Given the description of an element on the screen output the (x, y) to click on. 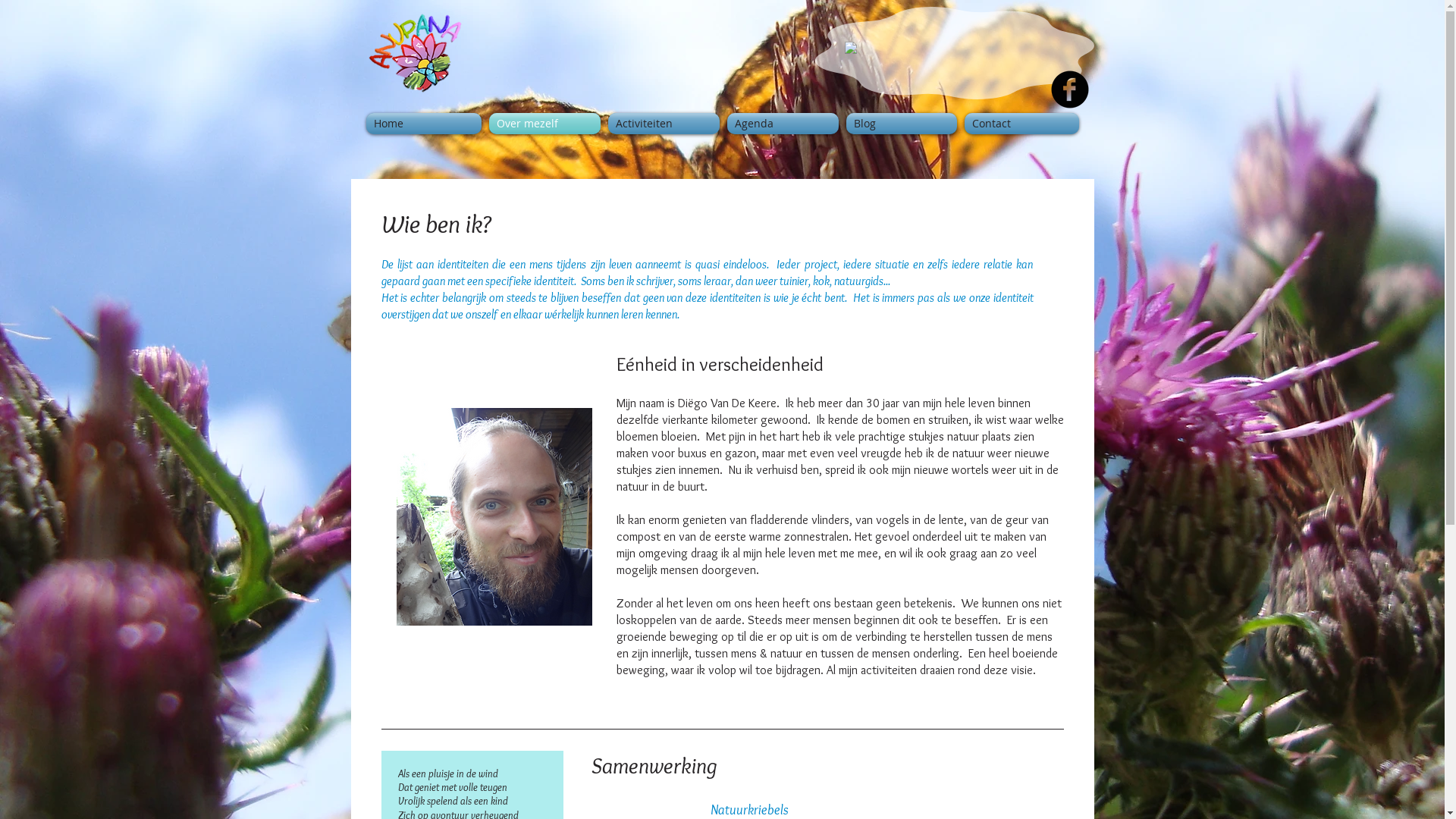
Embedded Content Element type: hover (948, 67)
Blog Element type: text (900, 123)
DSC02312-3_edited.JPG Element type: hover (494, 516)
anupanalogo2.png Element type: hover (413, 52)
Activiteiten Element type: text (662, 123)
Over mezelf Element type: text (544, 123)
Agenda Element type: text (782, 123)
Contact Element type: text (1019, 123)
Home Element type: text (424, 123)
